Given the description of an element on the screen output the (x, y) to click on. 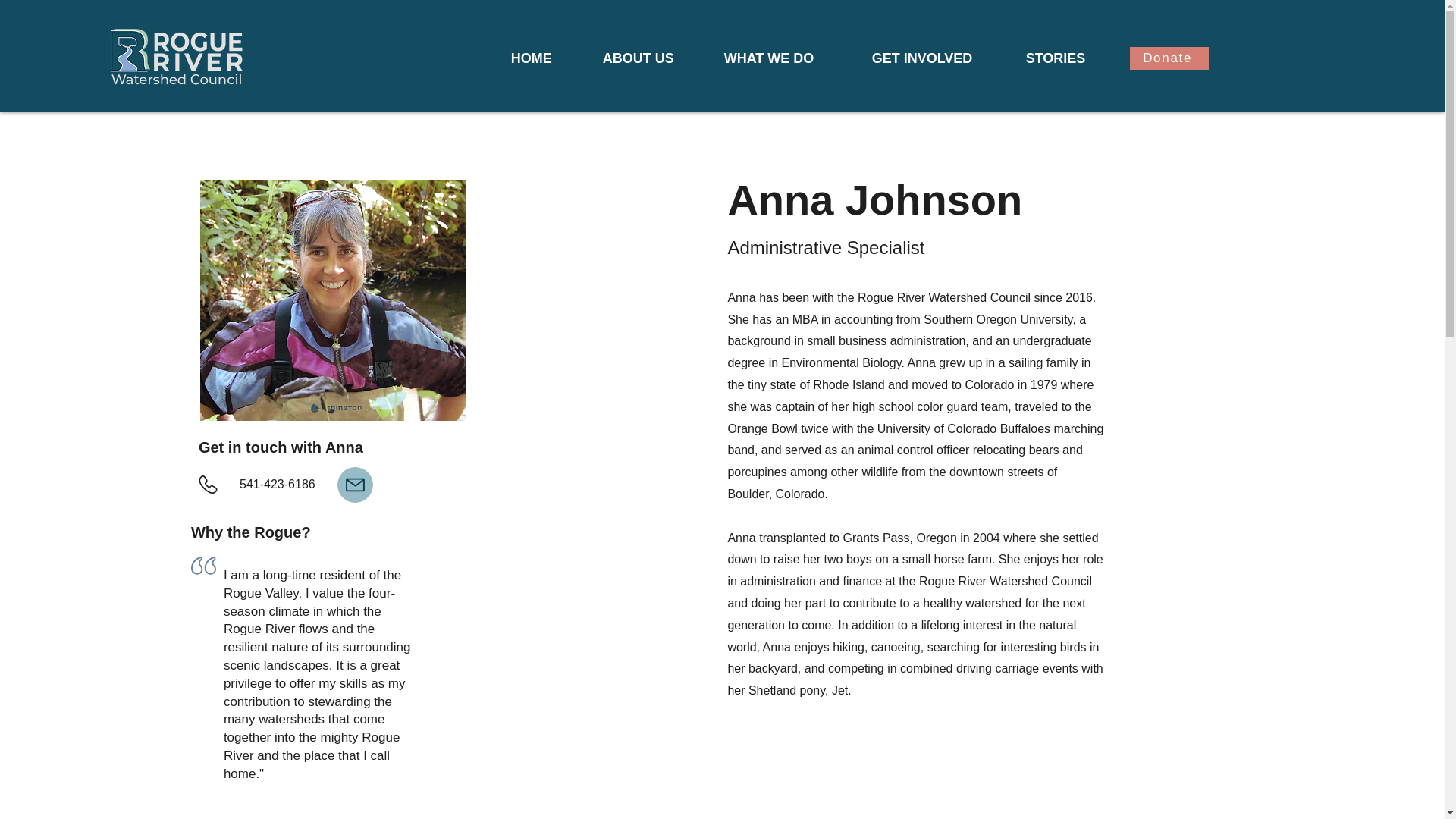
WHAT WE DO (786, 58)
HOME (545, 58)
Donate (1168, 57)
GET INVOLVED (937, 58)
ABOUT US (652, 58)
STORIES (1067, 58)
